Given the description of an element on the screen output the (x, y) to click on. 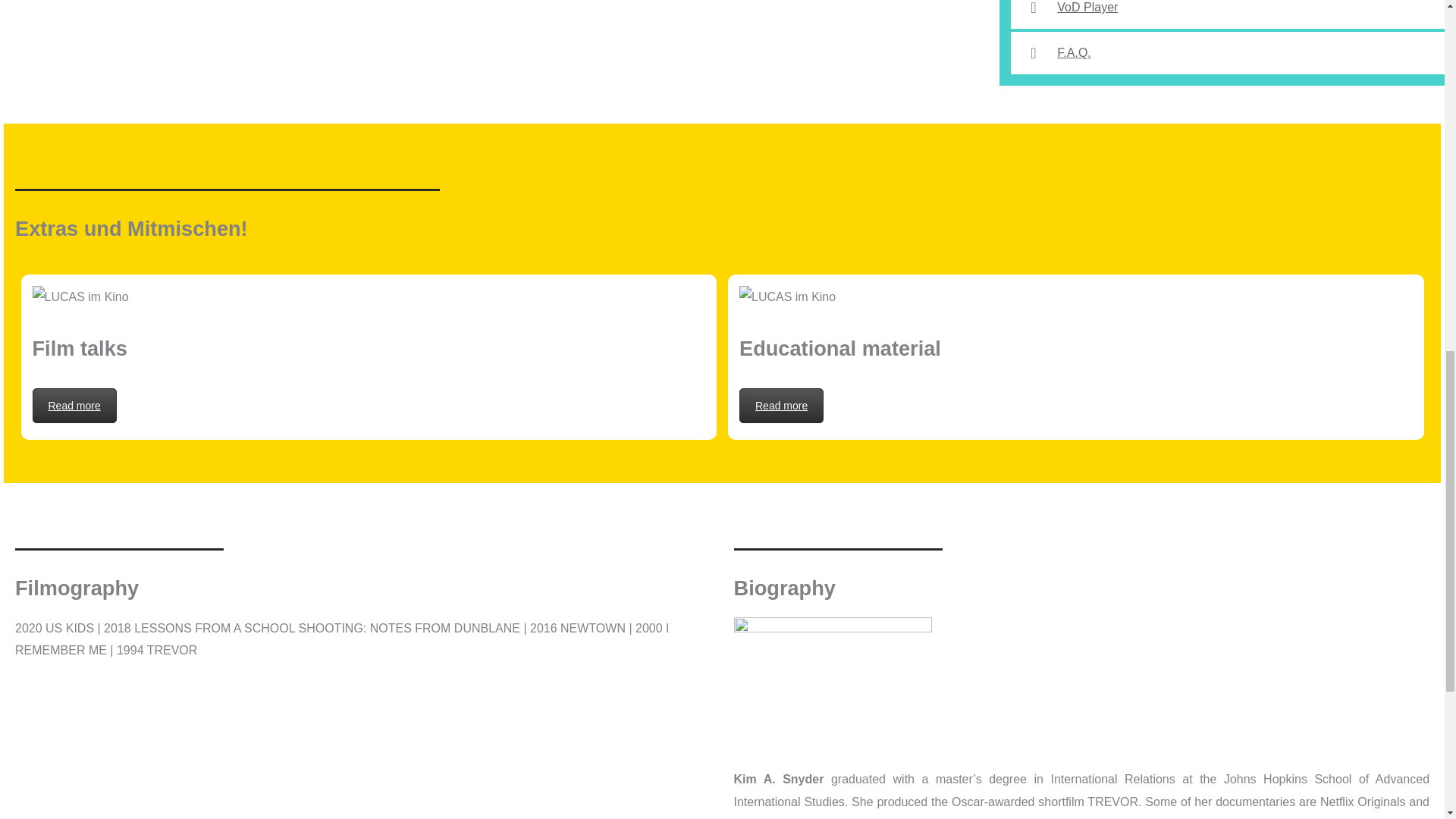
LUCAS im Kino (80, 296)
LUCAS im Kino (787, 296)
